Given the description of an element on the screen output the (x, y) to click on. 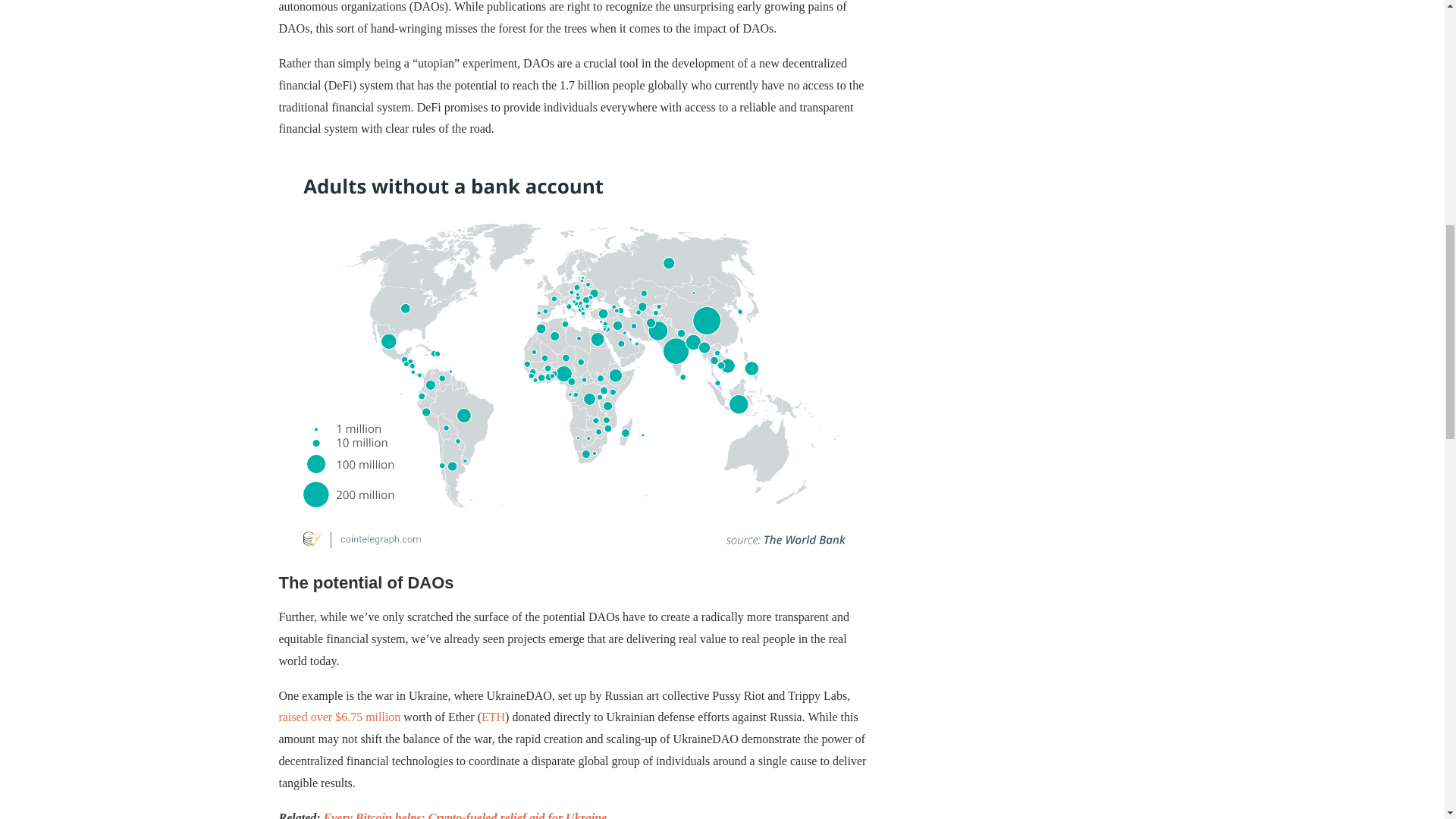
Every Bitcoin helps: Crypto-fueled relief aid for Ukraine (465, 815)
ETH (493, 716)
